Given the description of an element on the screen output the (x, y) to click on. 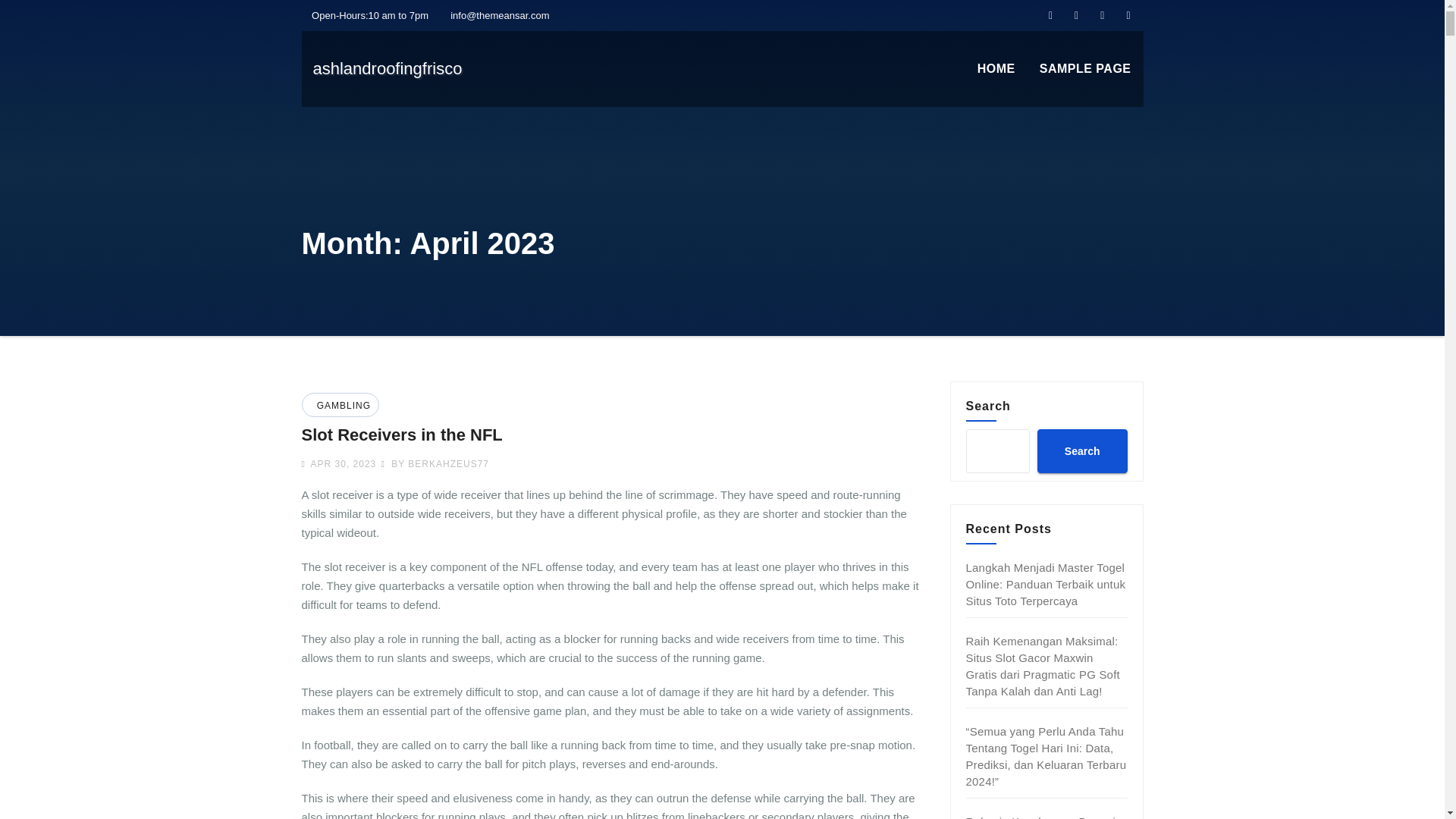
Permalink to: Slot Receivers in the NFL (401, 434)
GAMBLING (342, 405)
APR 30, 2023 (341, 463)
Open-Hours:10 am to 7pm (365, 15)
Slot Receivers in the NFL (401, 434)
BY BERKAHZEUS77 (434, 463)
ashlandroofingfrisco (387, 68)
SAMPLE PAGE (1084, 69)
